Given the description of an element on the screen output the (x, y) to click on. 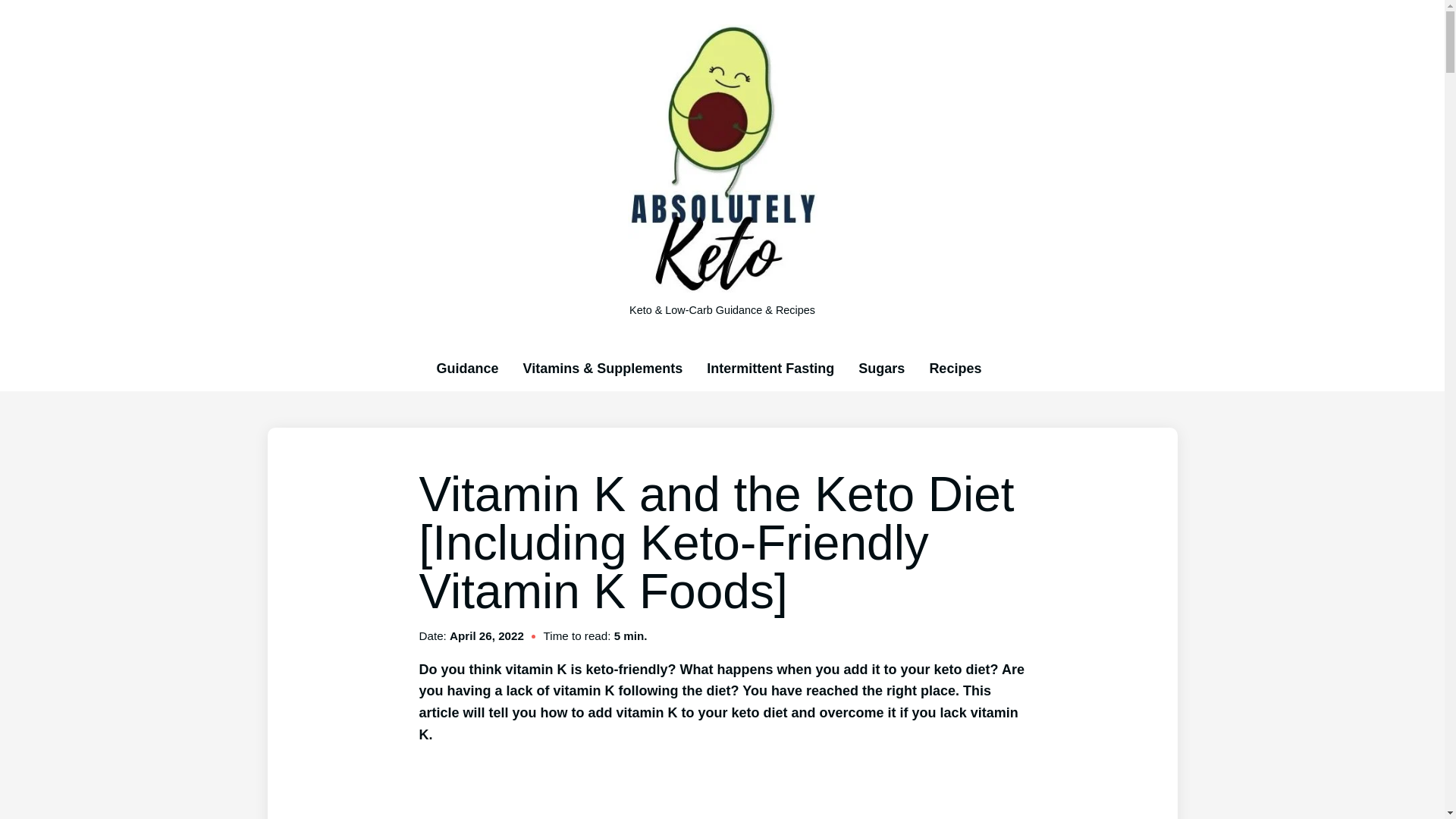
Recipes (954, 368)
Search for: (1006, 368)
Sugars (881, 368)
Intermittent Fasting (770, 368)
Guidance (467, 368)
